Given the description of an element on the screen output the (x, y) to click on. 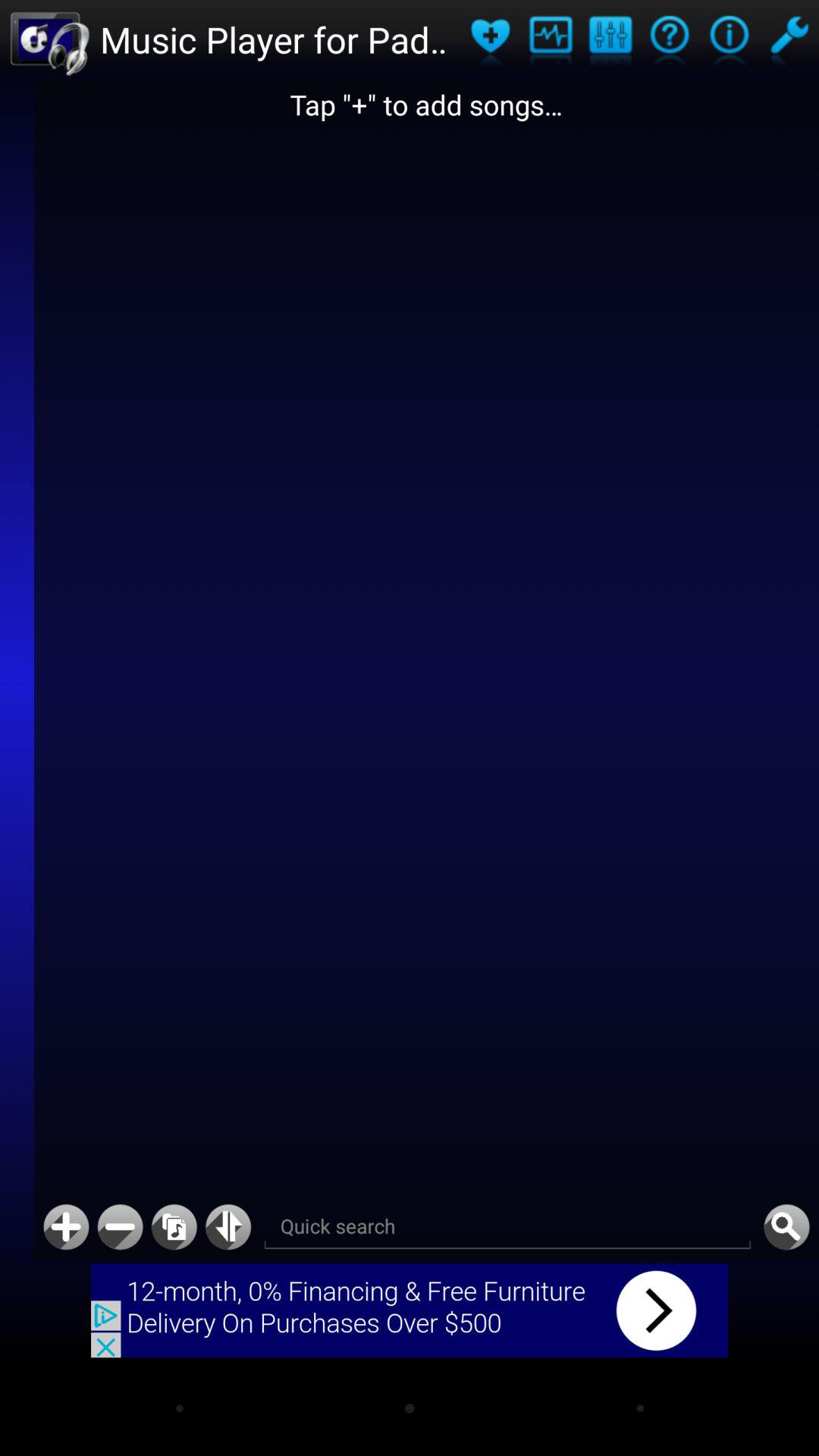
add to favourites (490, 39)
